Given the description of an element on the screen output the (x, y) to click on. 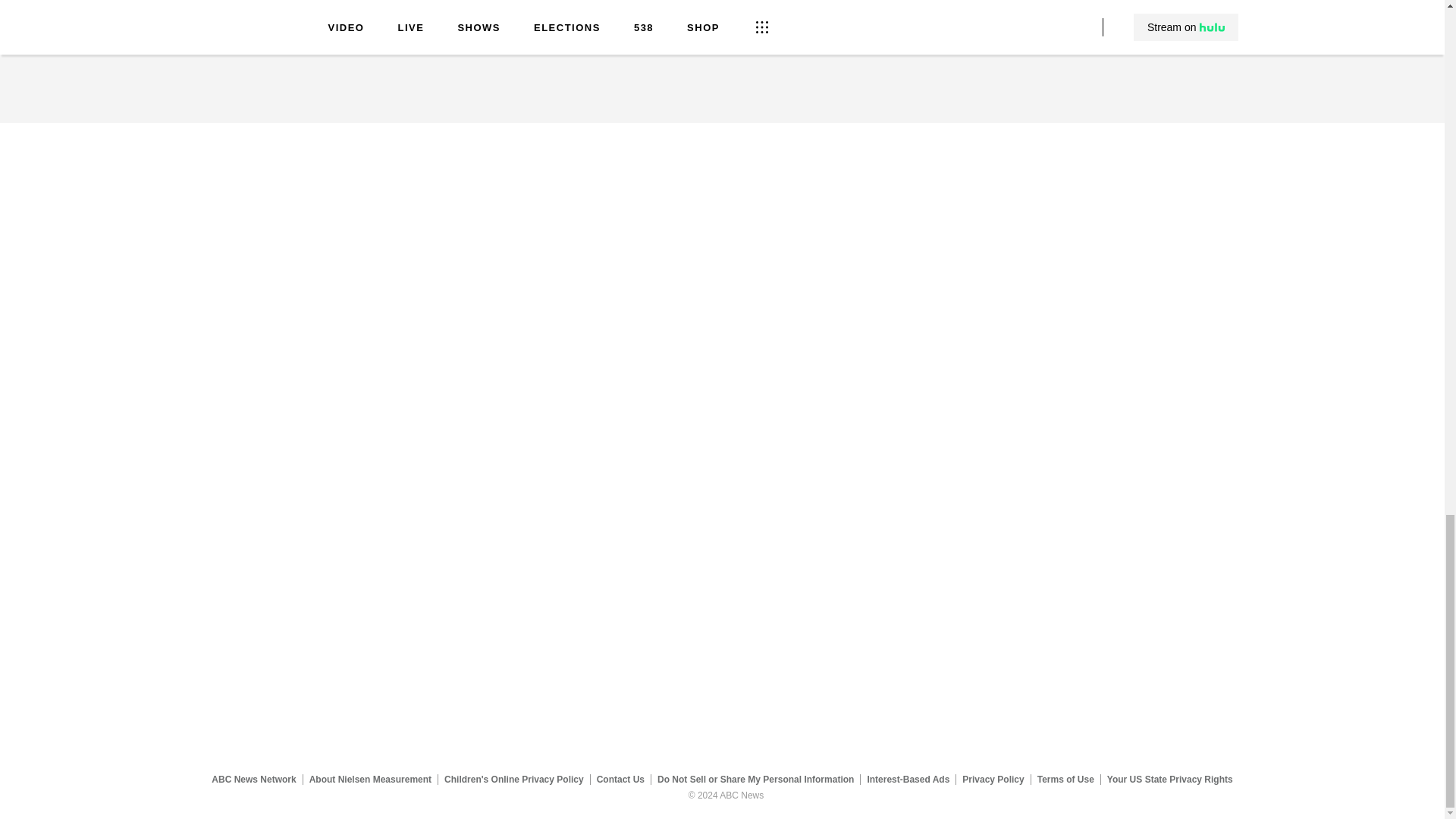
Privacy Policy (993, 778)
ABC News Network (253, 778)
Children's Online Privacy Policy (514, 778)
Interest-Based Ads (908, 778)
Do Not Sell or Share My Personal Information (755, 778)
About Nielsen Measurement (370, 778)
Contact Us (620, 778)
Your US State Privacy Rights (1169, 778)
Terms of Use (1065, 778)
